Given the description of an element on the screen output the (x, y) to click on. 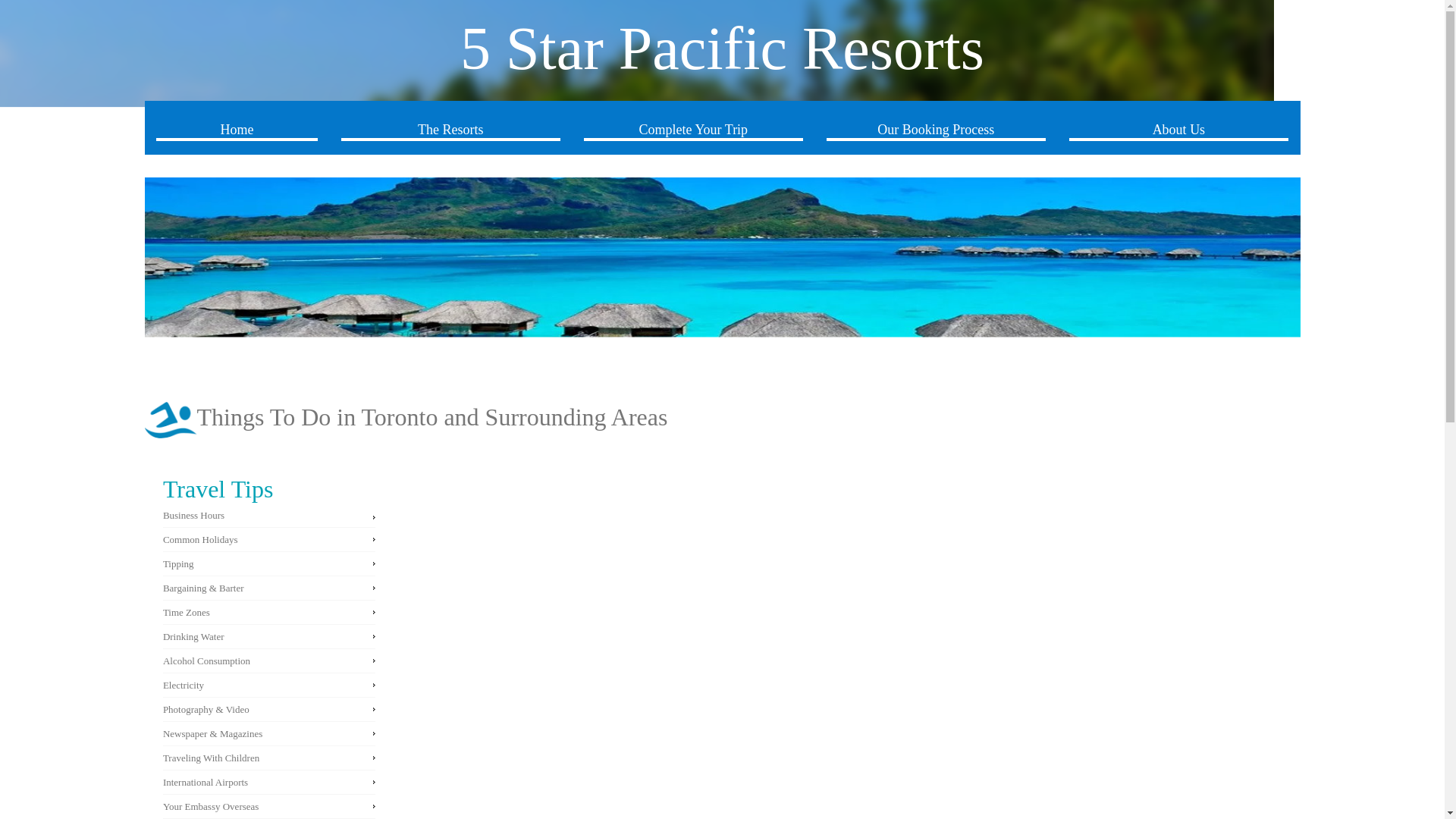
Our Booking Process (936, 125)
Alcohol Consumption (206, 660)
Time Zones (186, 612)
International Airports (205, 781)
Drinking Water (193, 636)
Tipping (178, 563)
5 Star Pacific Resorts (722, 48)
Your Embassy Overseas (211, 806)
aboutus (170, 419)
About Us (1178, 125)
Business Hours (193, 514)
The Resorts (450, 125)
Common Holidays (200, 539)
Complete Your Trip (693, 125)
Electricity (183, 685)
